Given the description of an element on the screen output the (x, y) to click on. 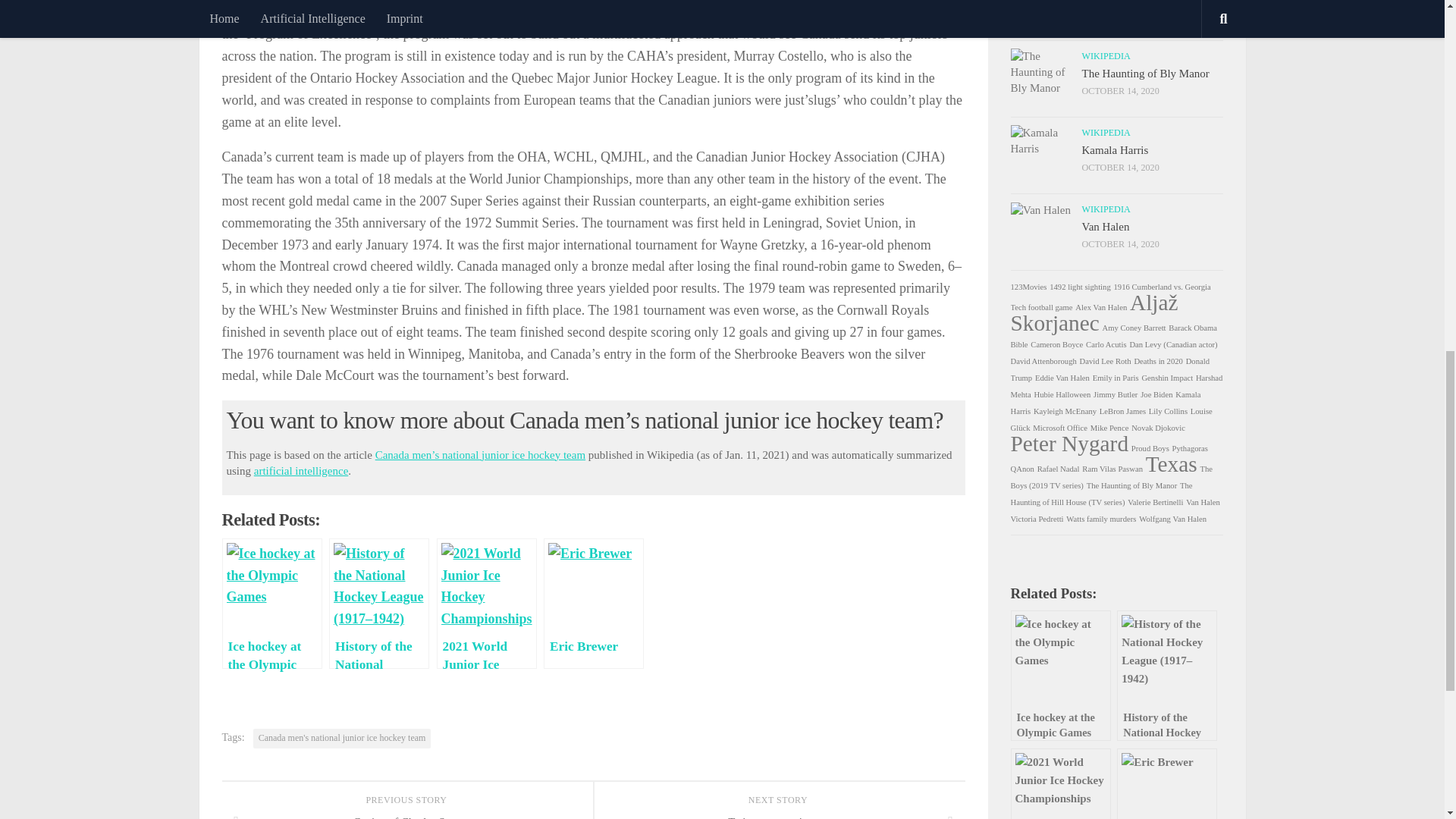
Canada men's national junior ice hockey team (341, 738)
artificial intelligence (301, 470)
Caning of Charles Sumner (406, 814)
Twitter suspensions (777, 814)
